Given the description of an element on the screen output the (x, y) to click on. 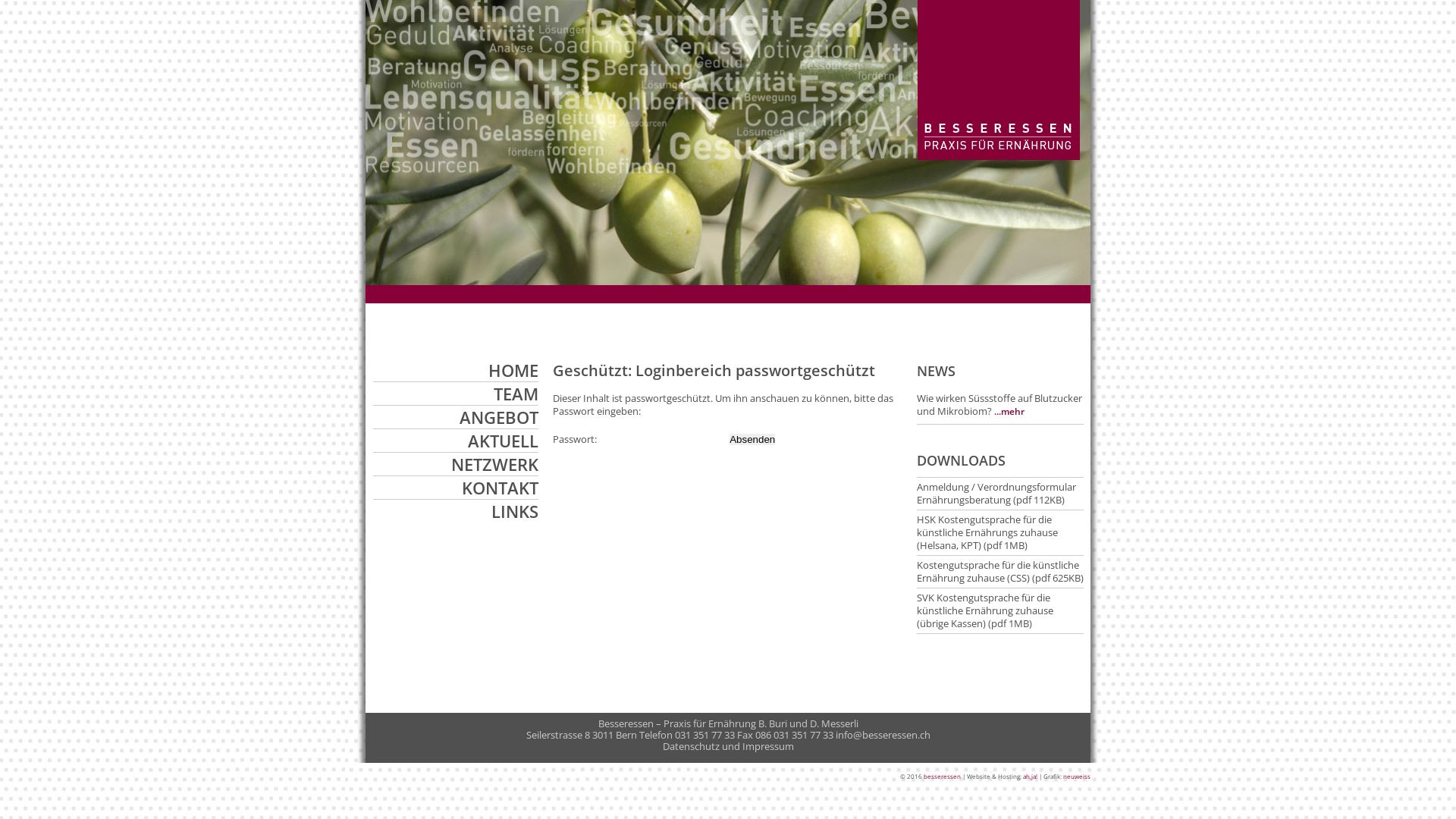
neuweiss Element type: text (1076, 775)
besseressen Element type: text (941, 775)
Besseressen Element type: hover (998, 155)
Absenden Element type: text (752, 439)
...mehr Element type: text (1009, 410)
HOME Element type: text (513, 369)
LINKS Element type: text (514, 510)
ANGEBOT Element type: text (498, 416)
TEAM Element type: text (515, 393)
AKTUELL Element type: text (502, 440)
NETZWERK Element type: text (494, 463)
ah,ja! Element type: text (1029, 775)
Datenschutz und Impressum Element type: text (727, 746)
KONTAKT Element type: text (499, 487)
info@besseressen.ch Element type: text (882, 734)
